Given the description of an element on the screen output the (x, y) to click on. 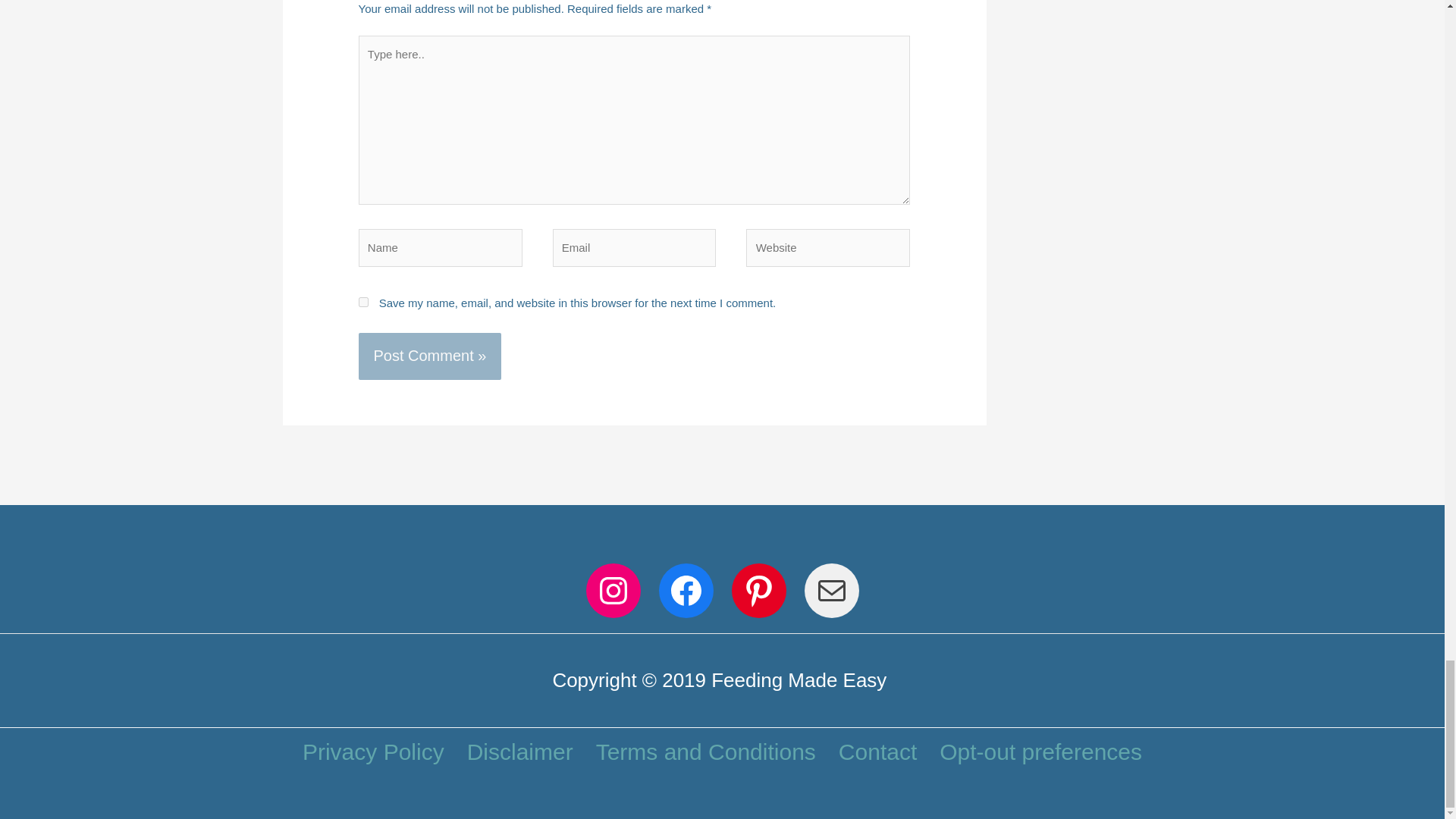
yes (363, 302)
